Given the description of an element on the screen output the (x, y) to click on. 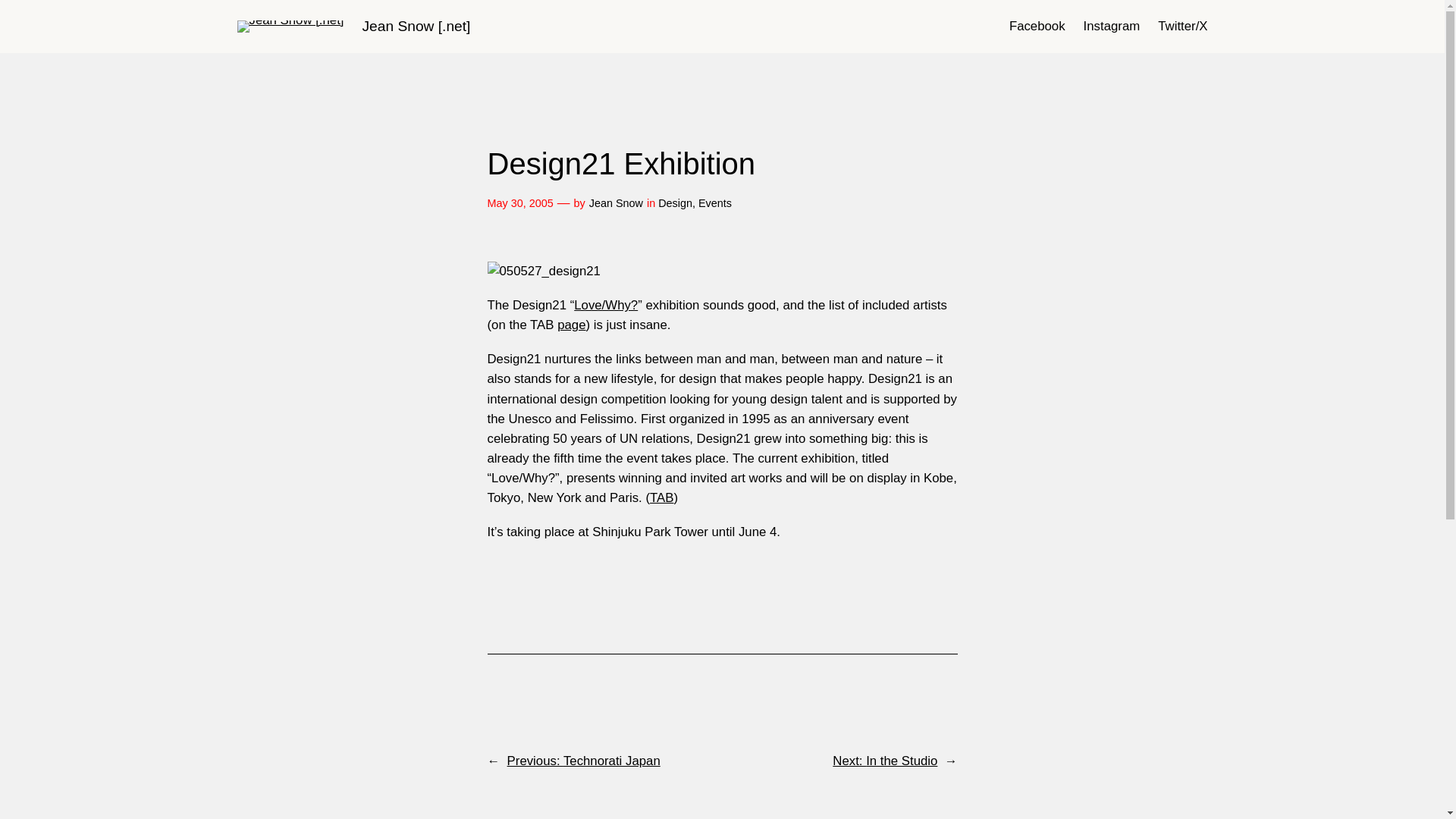
Design (675, 203)
Next: In the Studio (884, 760)
Jean Snow (616, 203)
page (571, 324)
Instagram (1111, 26)
Previous: Technorati Japan (583, 760)
TAB (660, 497)
May 30, 2005 (519, 203)
Facebook (1037, 26)
Events (715, 203)
